Given the description of an element on the screen output the (x, y) to click on. 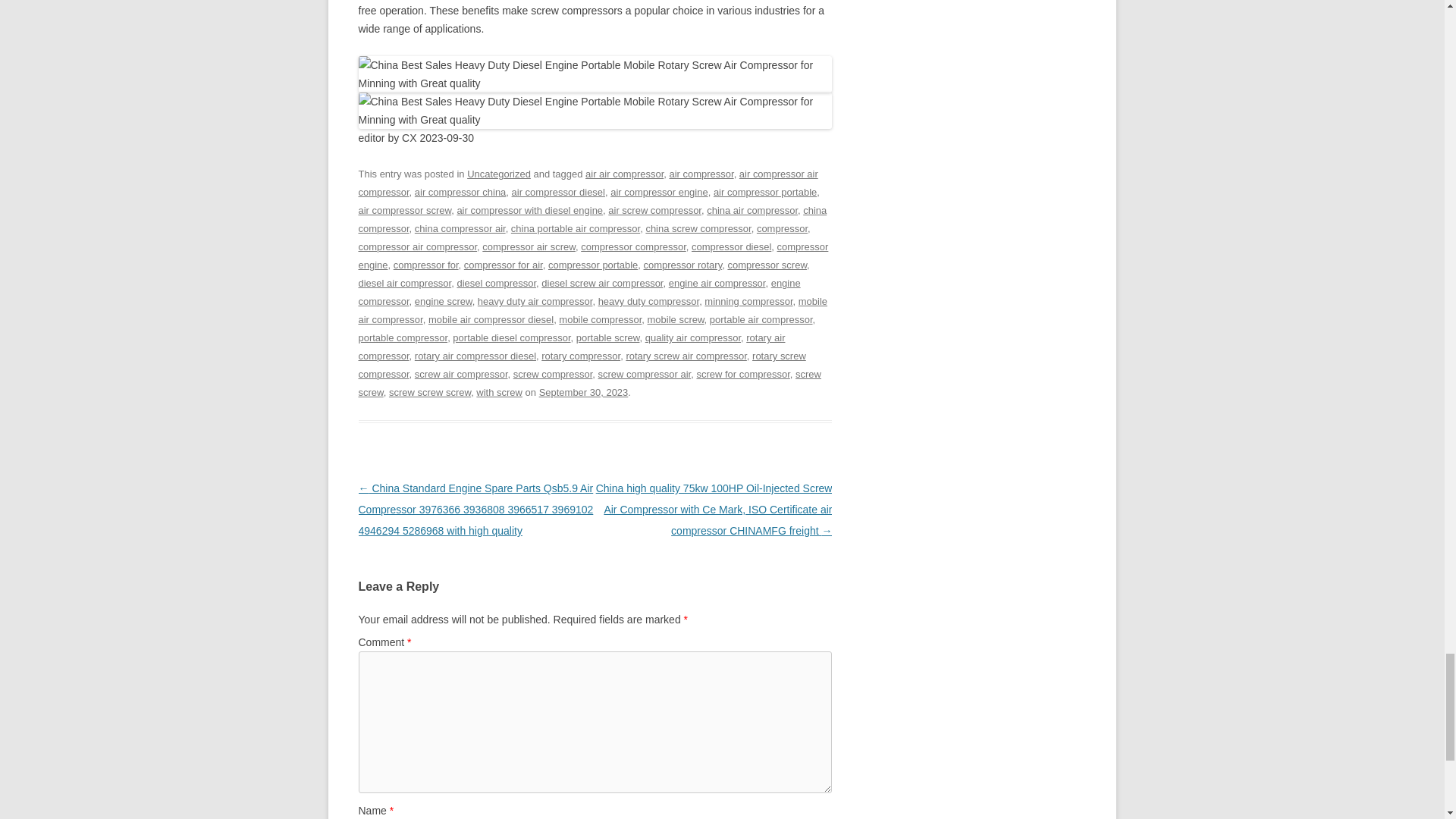
air screw compressor (654, 210)
heavy duty air compressor (534, 301)
engine air compressor (716, 283)
air compressor air compressor (587, 183)
compressor portable (592, 265)
compressor screw (766, 265)
compressor for (425, 265)
china air compressor (751, 210)
compressor engine (593, 255)
compressor diesel (731, 246)
